Given the description of an element on the screen output the (x, y) to click on. 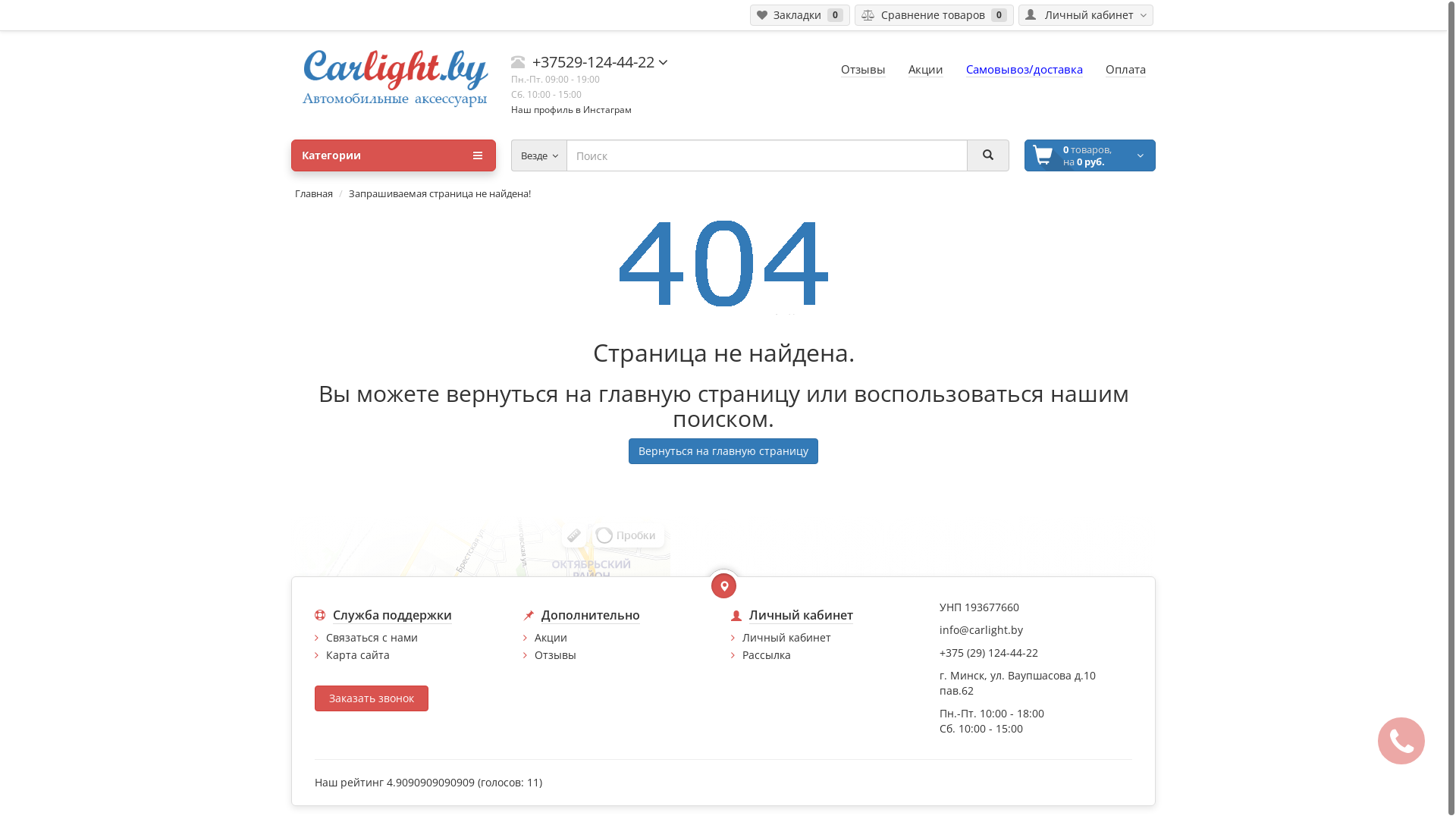
info@carlight.by Element type: text (980, 629)
+375 (29) 124-44-22 Element type: text (987, 652)
